Given the description of an element on the screen output the (x, y) to click on. 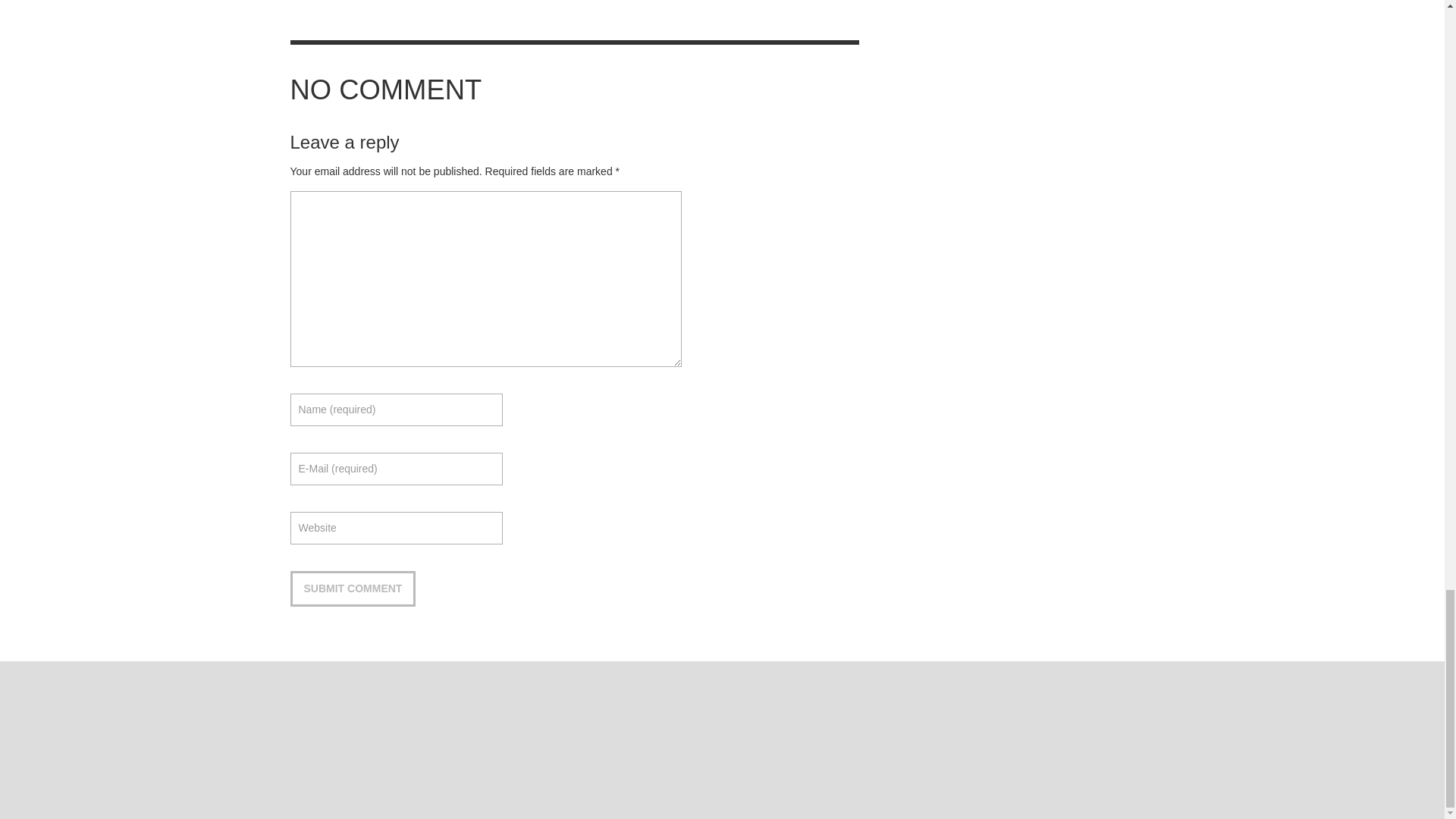
Website (395, 527)
Submit comment (351, 588)
